Given the description of an element on the screen output the (x, y) to click on. 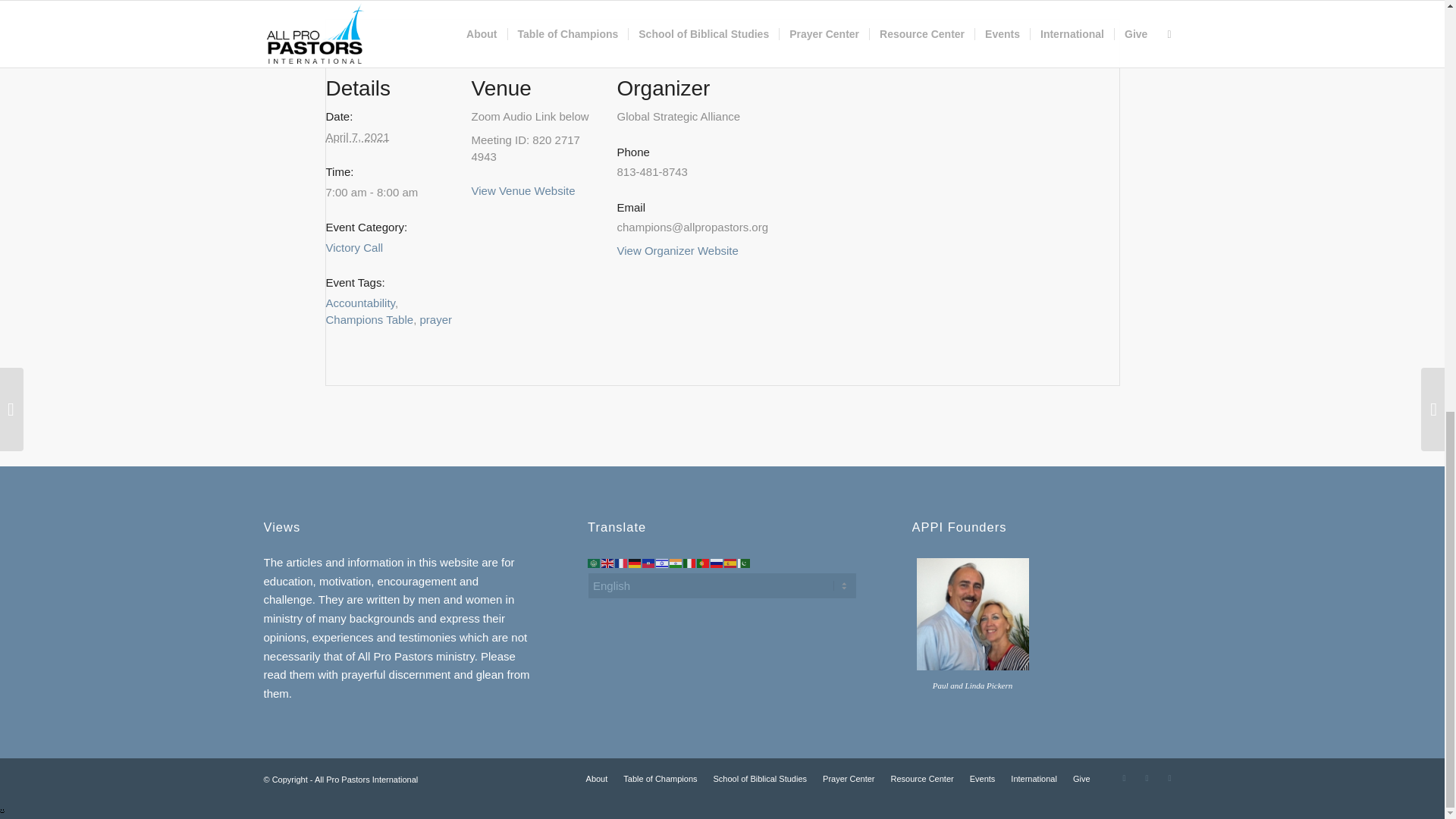
Hindi (675, 562)
German (635, 562)
French (621, 562)
Haitian Creole (649, 562)
Hebrew (662, 562)
2021-04-07 (389, 192)
English (607, 562)
2021-04-07 (358, 136)
Russian (716, 562)
Italian (689, 562)
Arabic (594, 562)
Portuguese (703, 562)
